Given the description of an element on the screen output the (x, y) to click on. 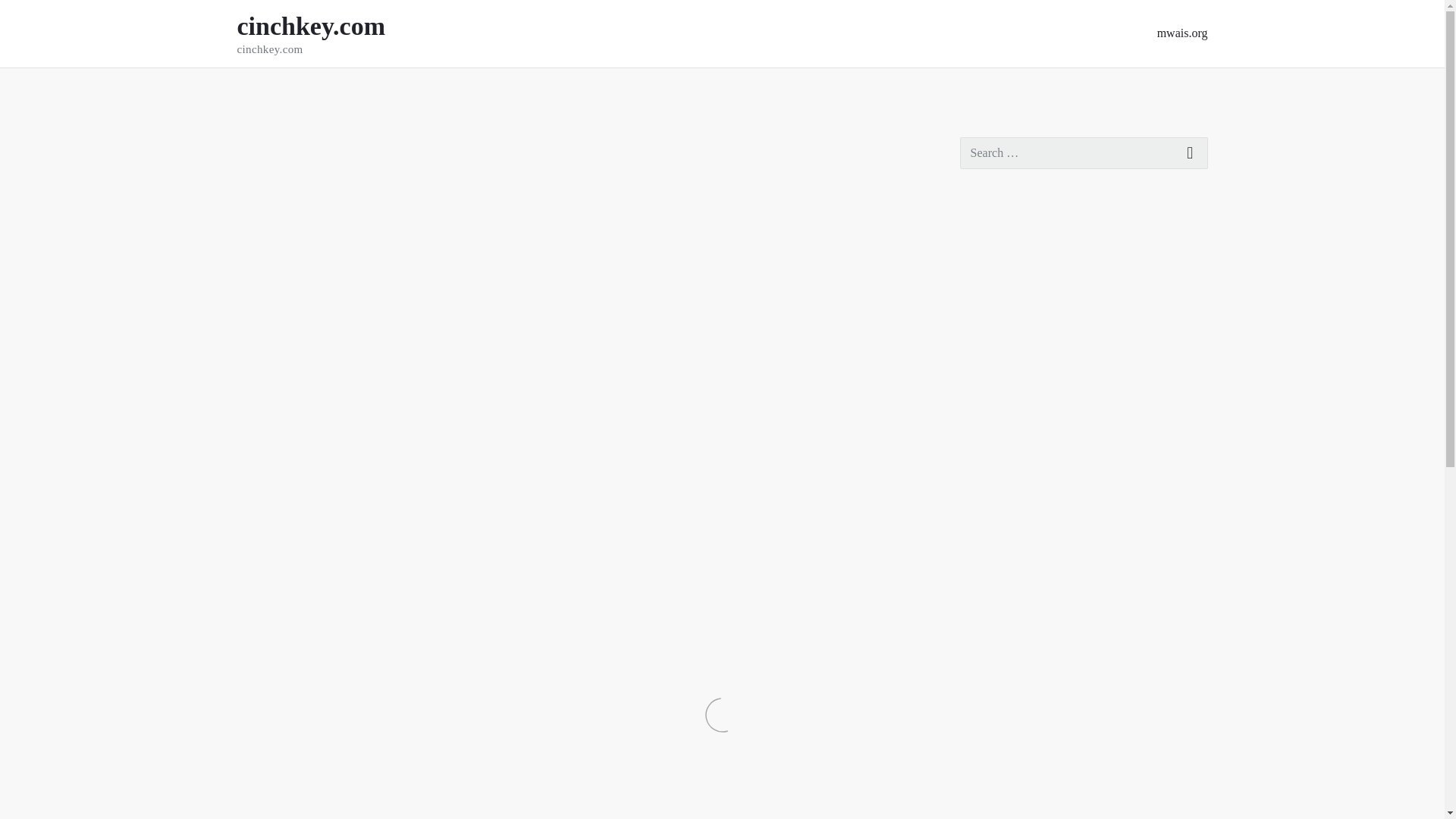
cinchkey (336, 145)
January 2024 (993, 545)
February 2024 (997, 513)
March 2024 (990, 481)
Posts by cinchkey (336, 145)
Sbobet Online (996, 317)
June 2023 (985, 774)
SEARCH (1190, 152)
Slot Online (988, 381)
October 2023 (994, 644)
May 2023 (985, 807)
Search for: (1083, 152)
Sunday, September 18, 2022, 12:01 pm (265, 145)
December 2023 (1000, 578)
September 2023 (1001, 676)
